Given the description of an element on the screen output the (x, y) to click on. 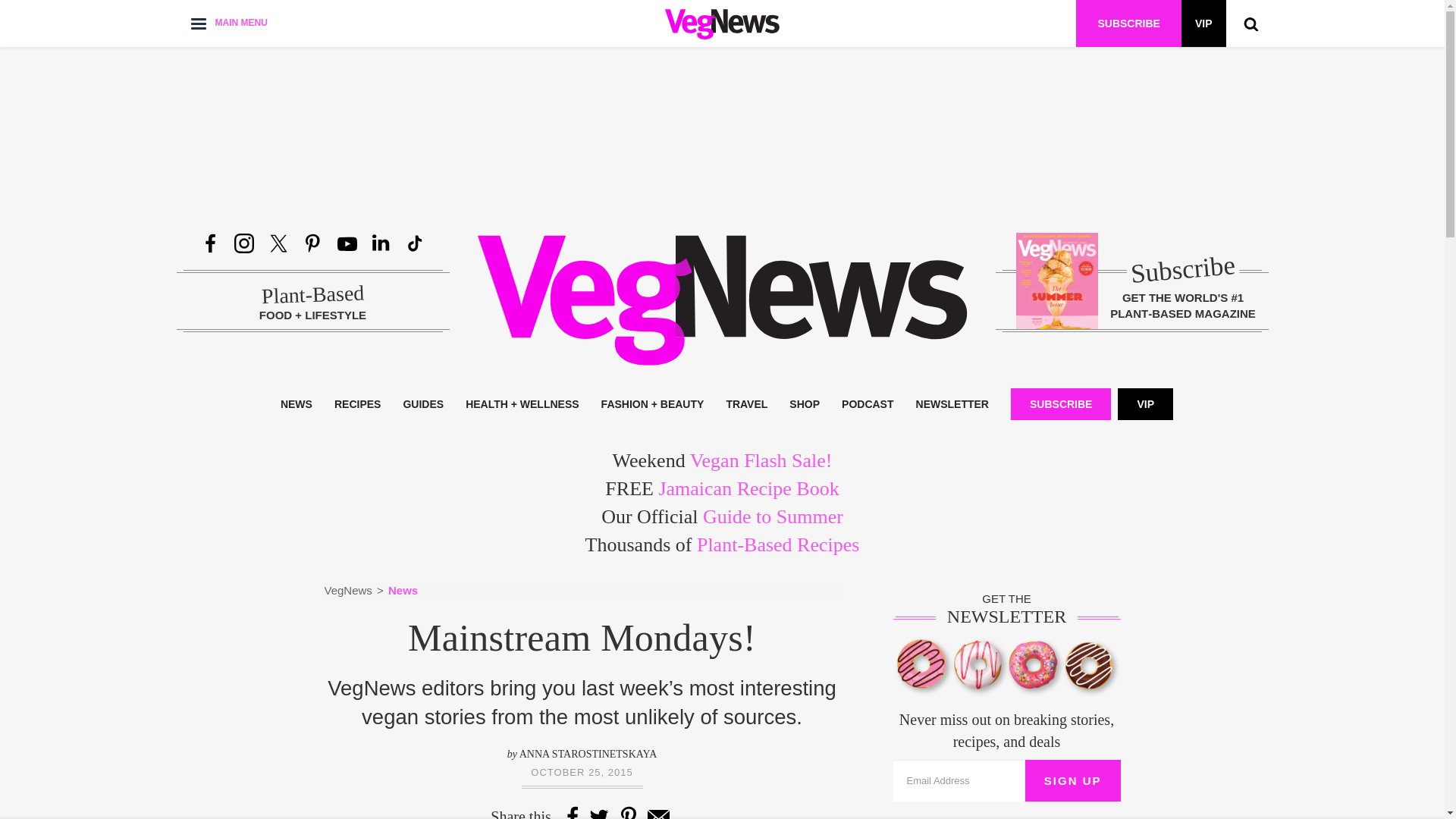
Become a VIP (1202, 23)
Share article via email (658, 812)
Show search (1250, 22)
Share article on Twitter (598, 812)
Share article on Facebook (572, 812)
MAIN MENU (228, 23)
Sign Up (1073, 780)
Share article on Pinterest (628, 812)
